Given the description of an element on the screen output the (x, y) to click on. 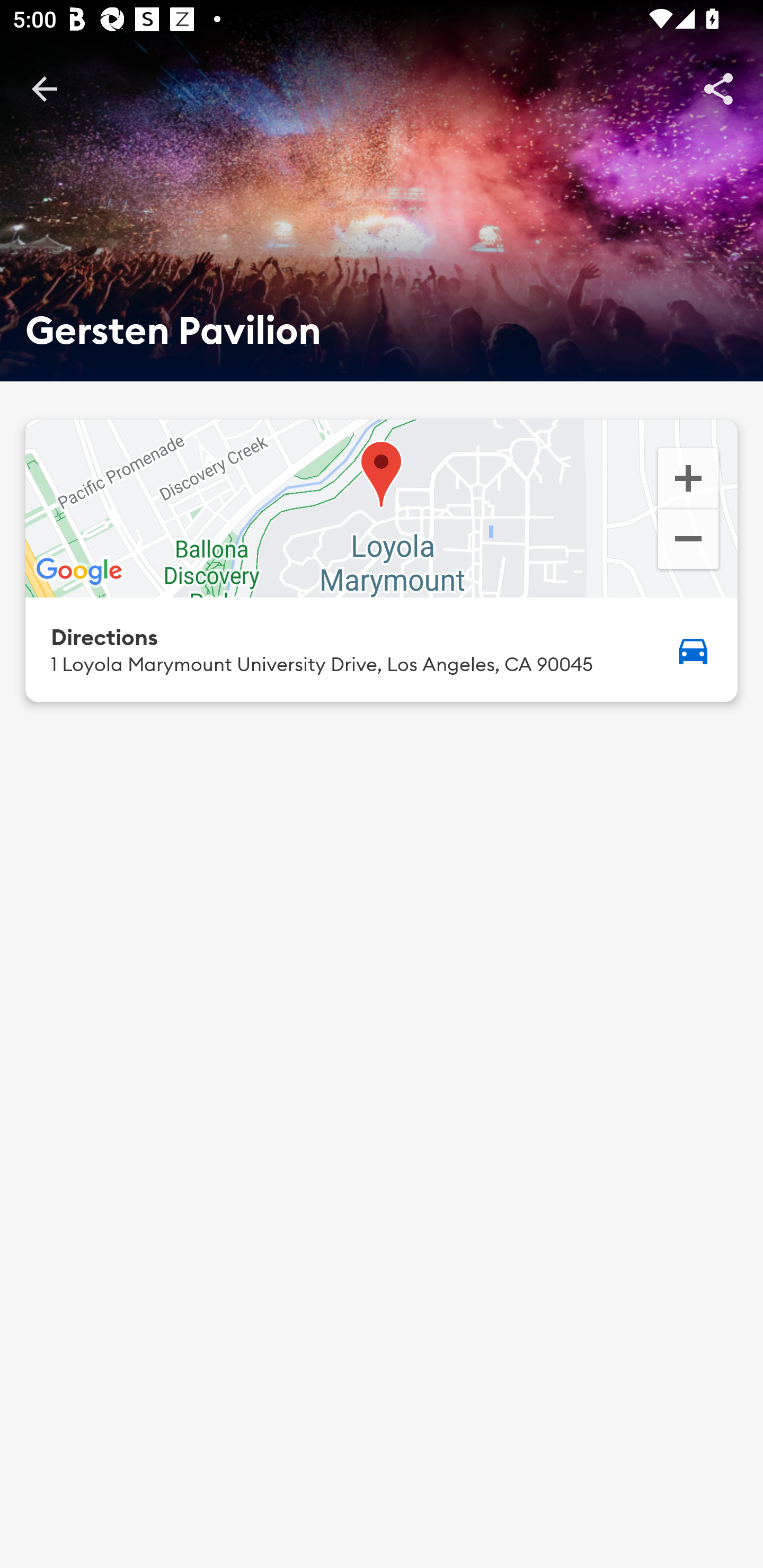
BackButton (44, 88)
Share (718, 88)
Google Map Gersten Pavilion.  Zoom in Zoom out (381, 508)
Zoom in (687, 476)
Zoom out (687, 540)
